Given the description of an element on the screen output the (x, y) to click on. 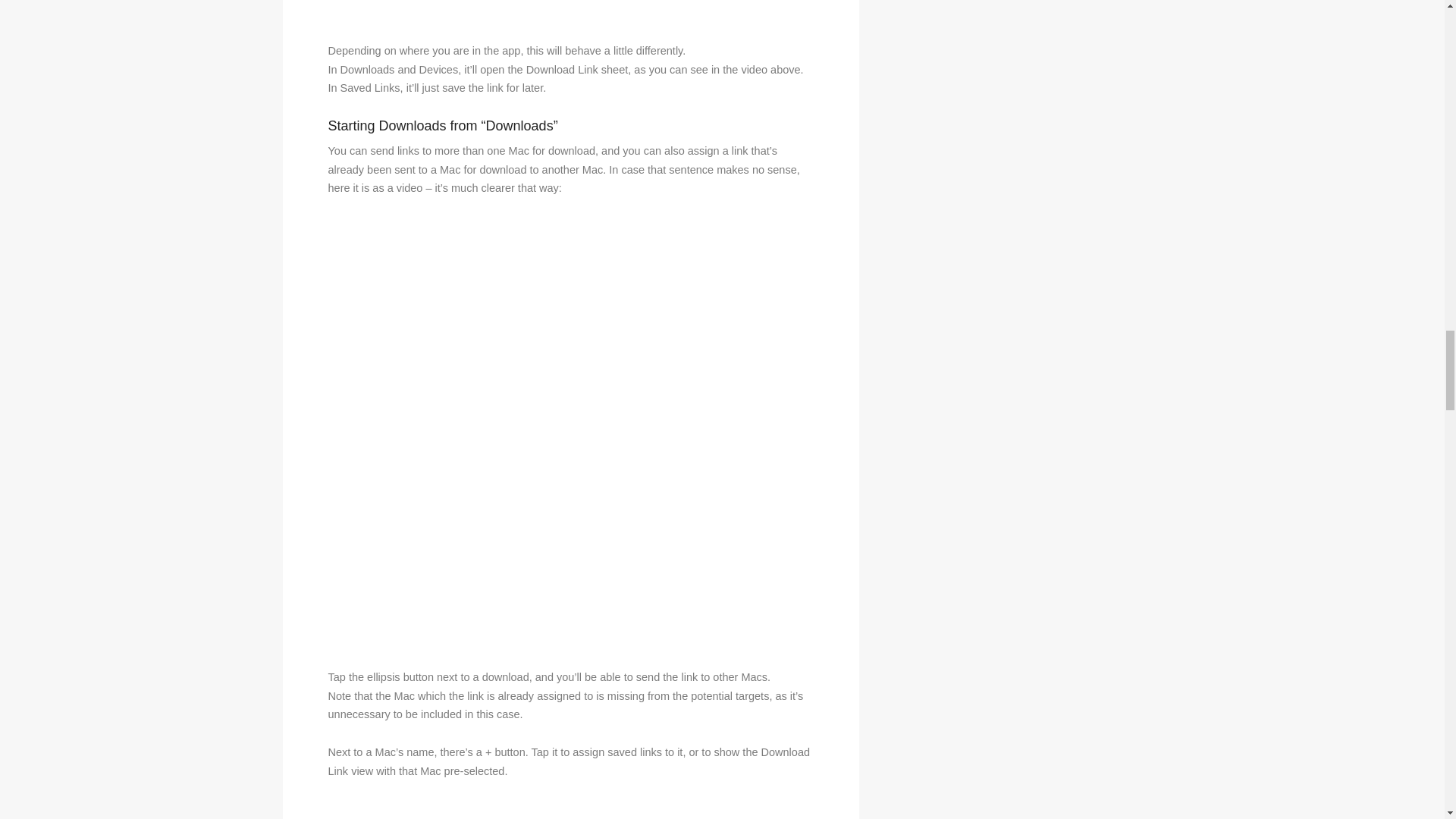
Transloader Three Finger Actions Demo (569, 12)
